Given the description of an element on the screen output the (x, y) to click on. 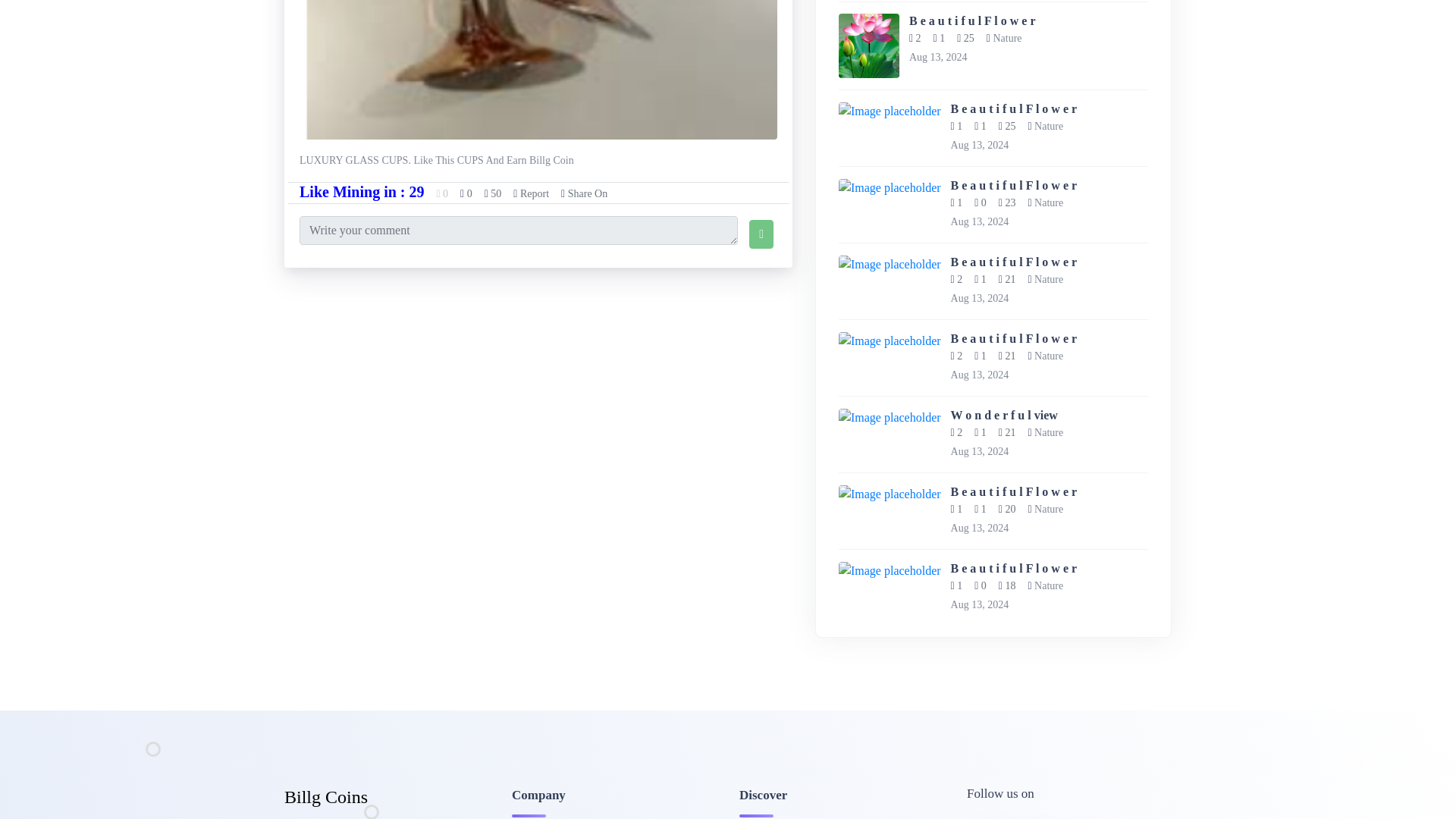
Like Mining in : 29 (361, 191)
Report (530, 194)
Share On (583, 194)
50 (493, 194)
